Given the description of an element on the screen output the (x, y) to click on. 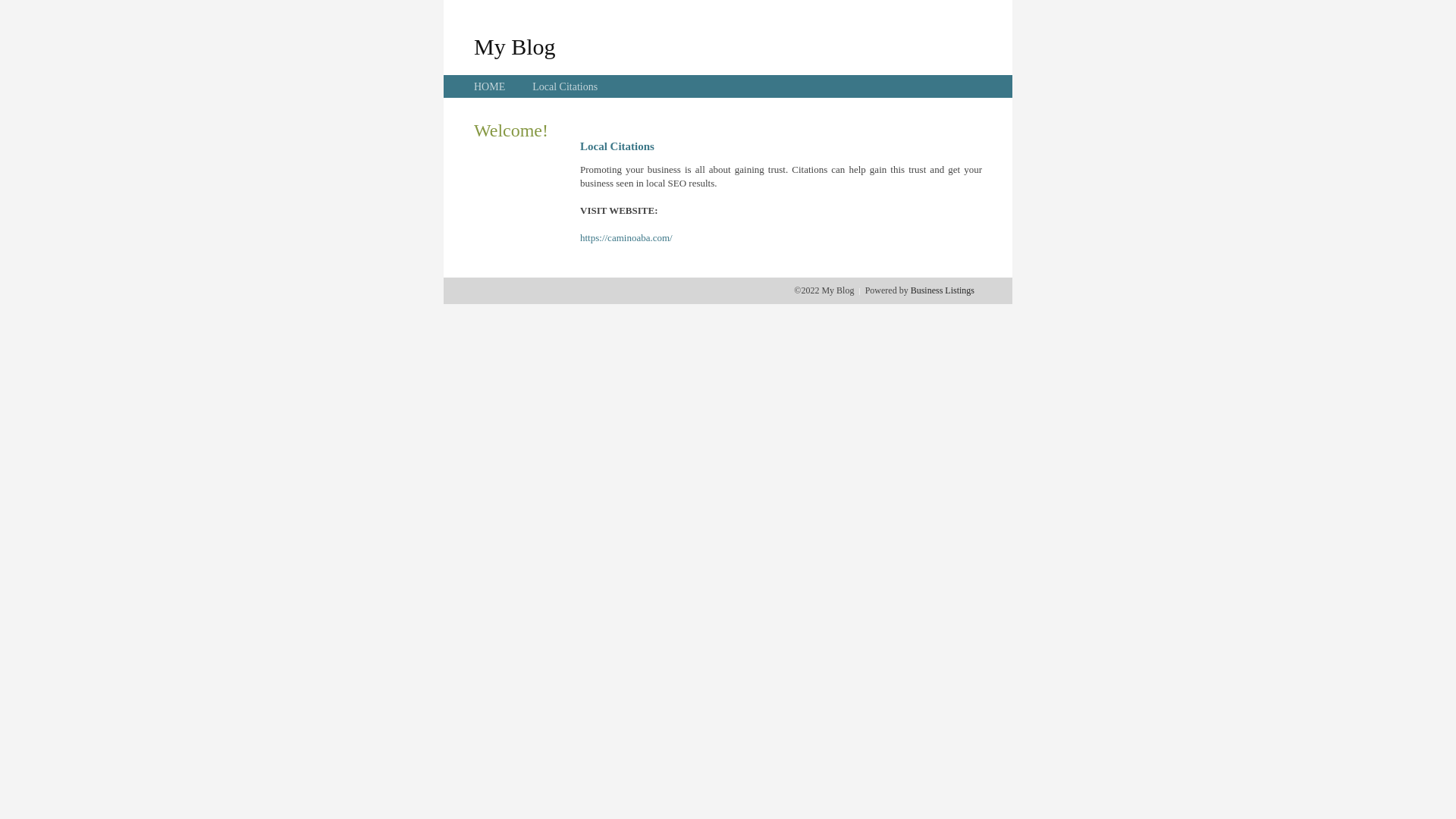
https://caminoaba.com/ Element type: text (626, 237)
Business Listings Element type: text (942, 290)
HOME Element type: text (489, 86)
My Blog Element type: text (514, 46)
Local Citations Element type: text (564, 86)
